Given the description of an element on the screen output the (x, y) to click on. 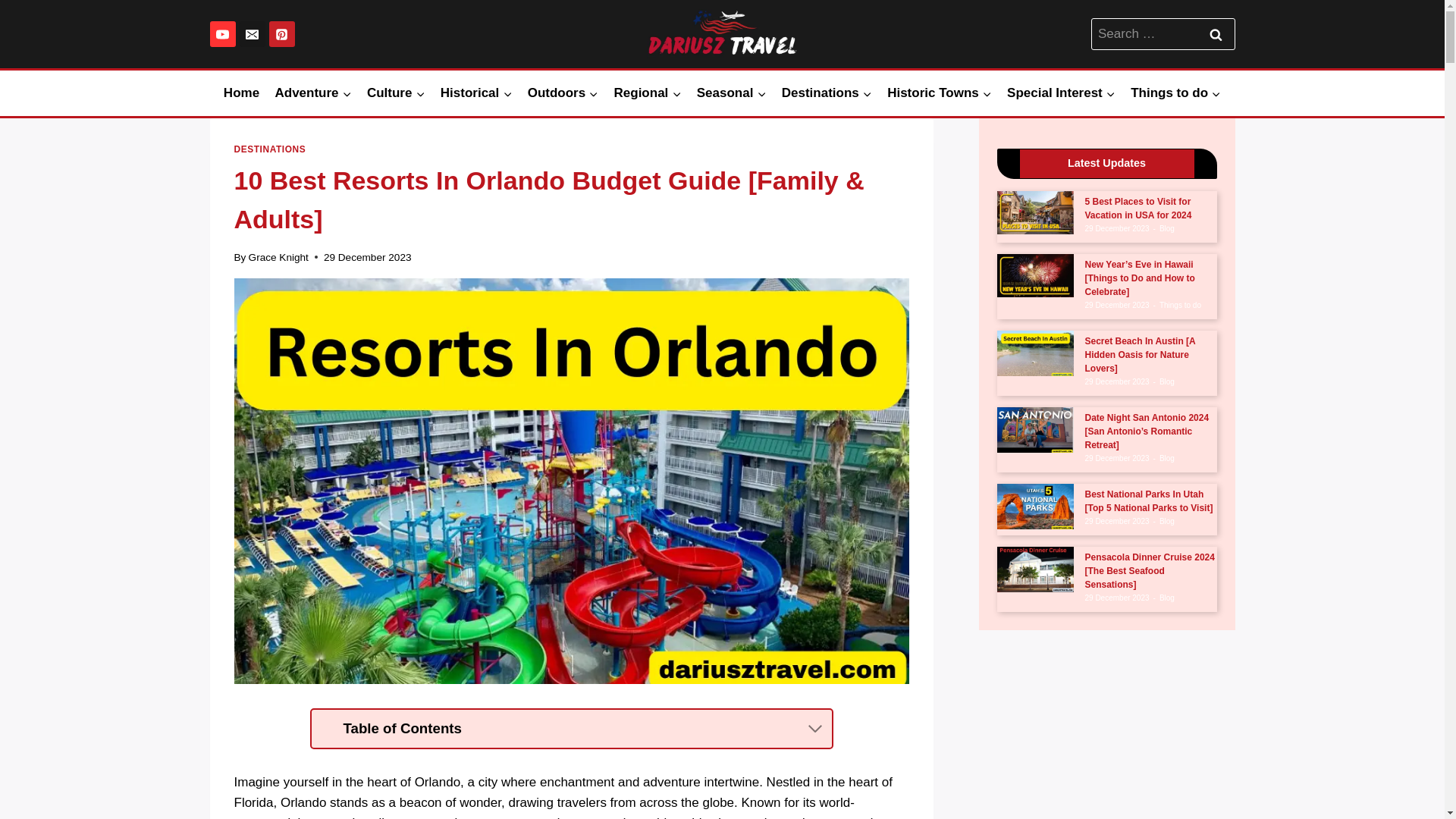
Home (241, 93)
Search (1215, 34)
Adventure (312, 93)
Culture (395, 93)
Search (1215, 34)
Outdoors (562, 93)
Historical (475, 93)
Search (1215, 34)
